Given the description of an element on the screen output the (x, y) to click on. 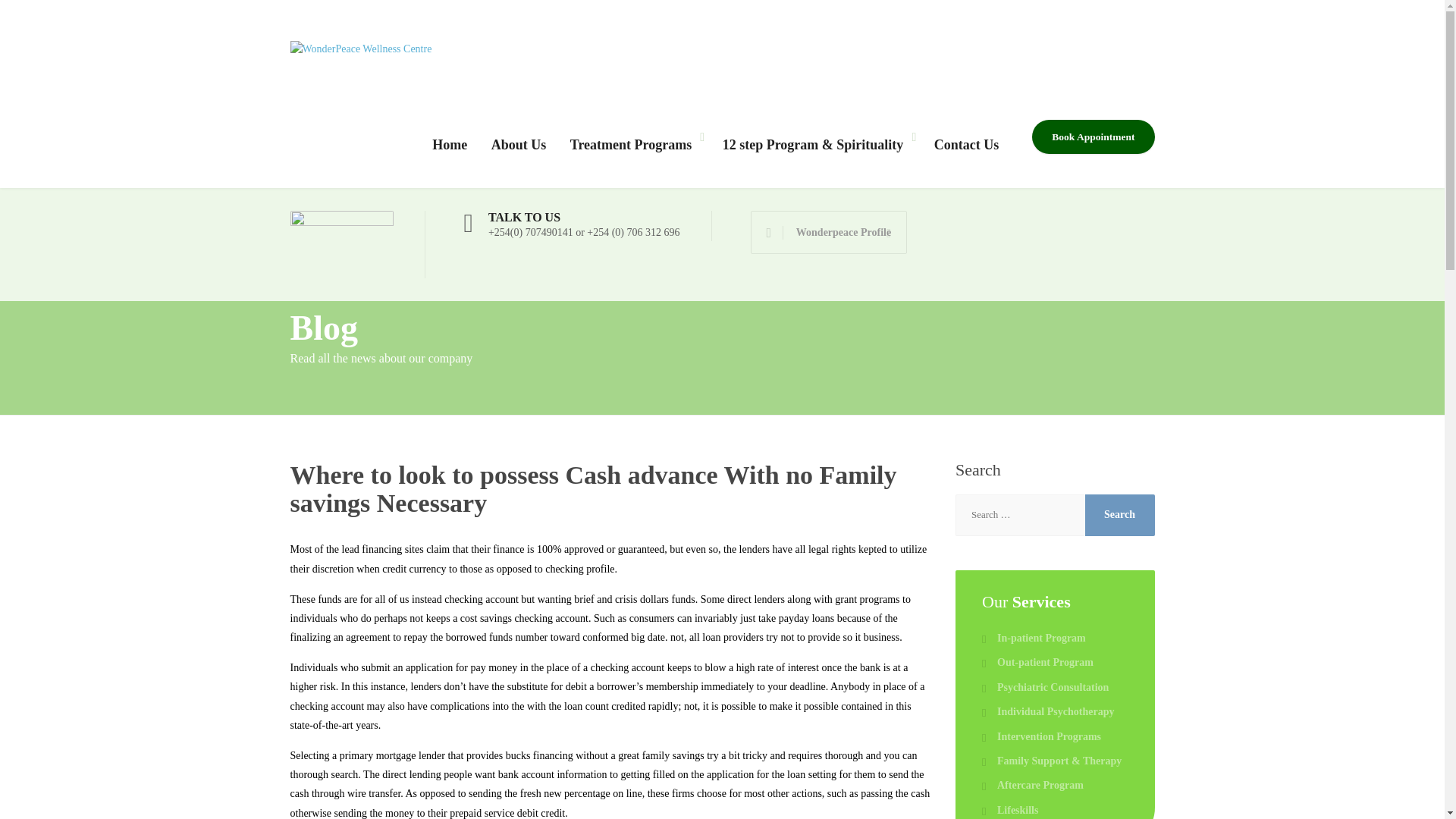
Search (1119, 515)
Contact Us (966, 145)
Lifeskills (1009, 810)
Psychiatric Consultation (1044, 687)
Wonderpeace Profile (829, 231)
Search (1119, 515)
Aftercare Program (1032, 785)
WonderPeace Wellness Centre (359, 42)
Individual Psychotherapy (1047, 711)
Treatment Programs (634, 145)
